Given the description of an element on the screen output the (x, y) to click on. 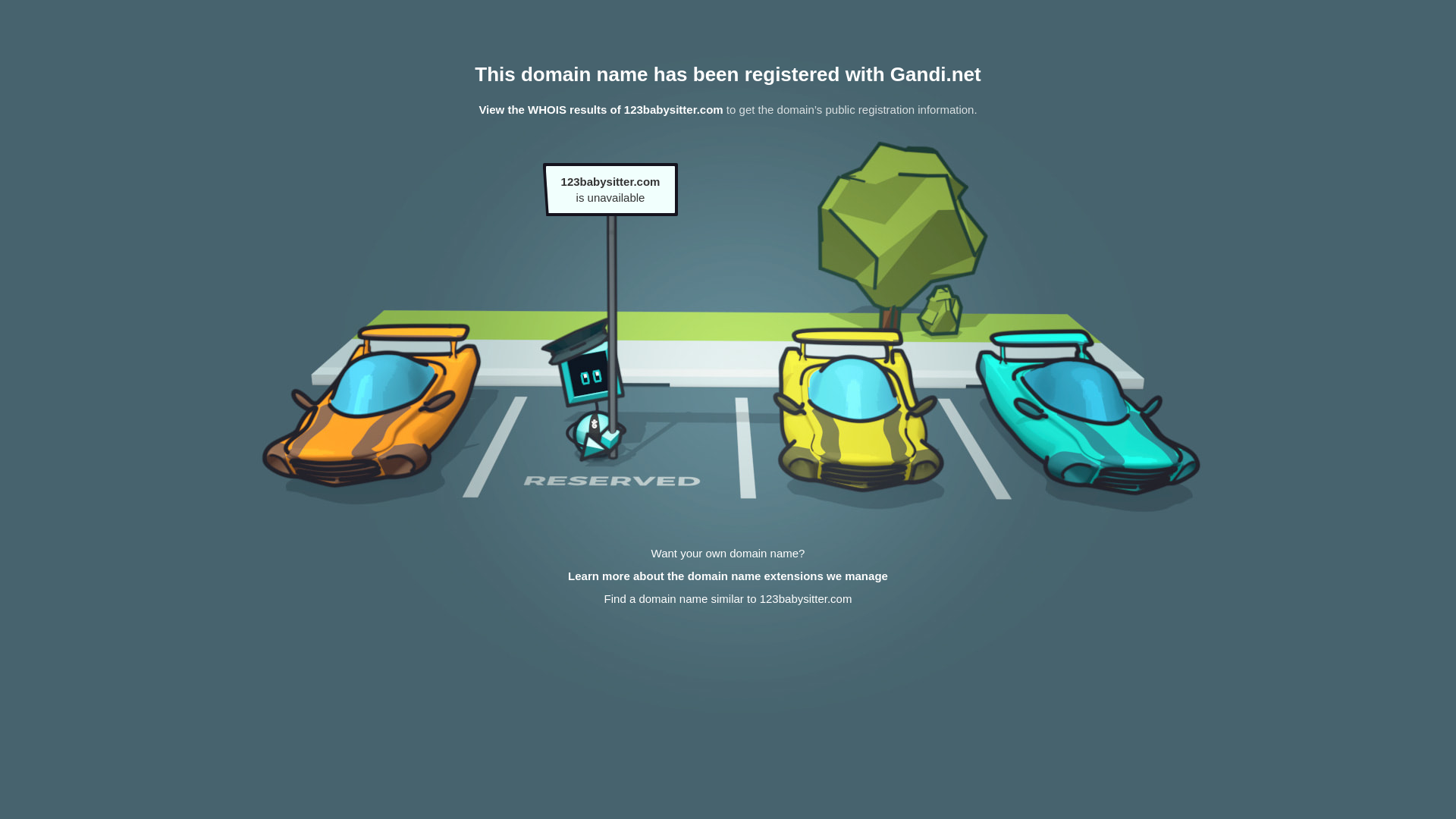
Learn more about the domain name extensions we manage Element type: text (727, 575)
Find a domain name similar to 123babysitter.com Element type: text (728, 598)
View the WHOIS results of 123babysitter.com Element type: text (600, 109)
